Given the description of an element on the screen output the (x, y) to click on. 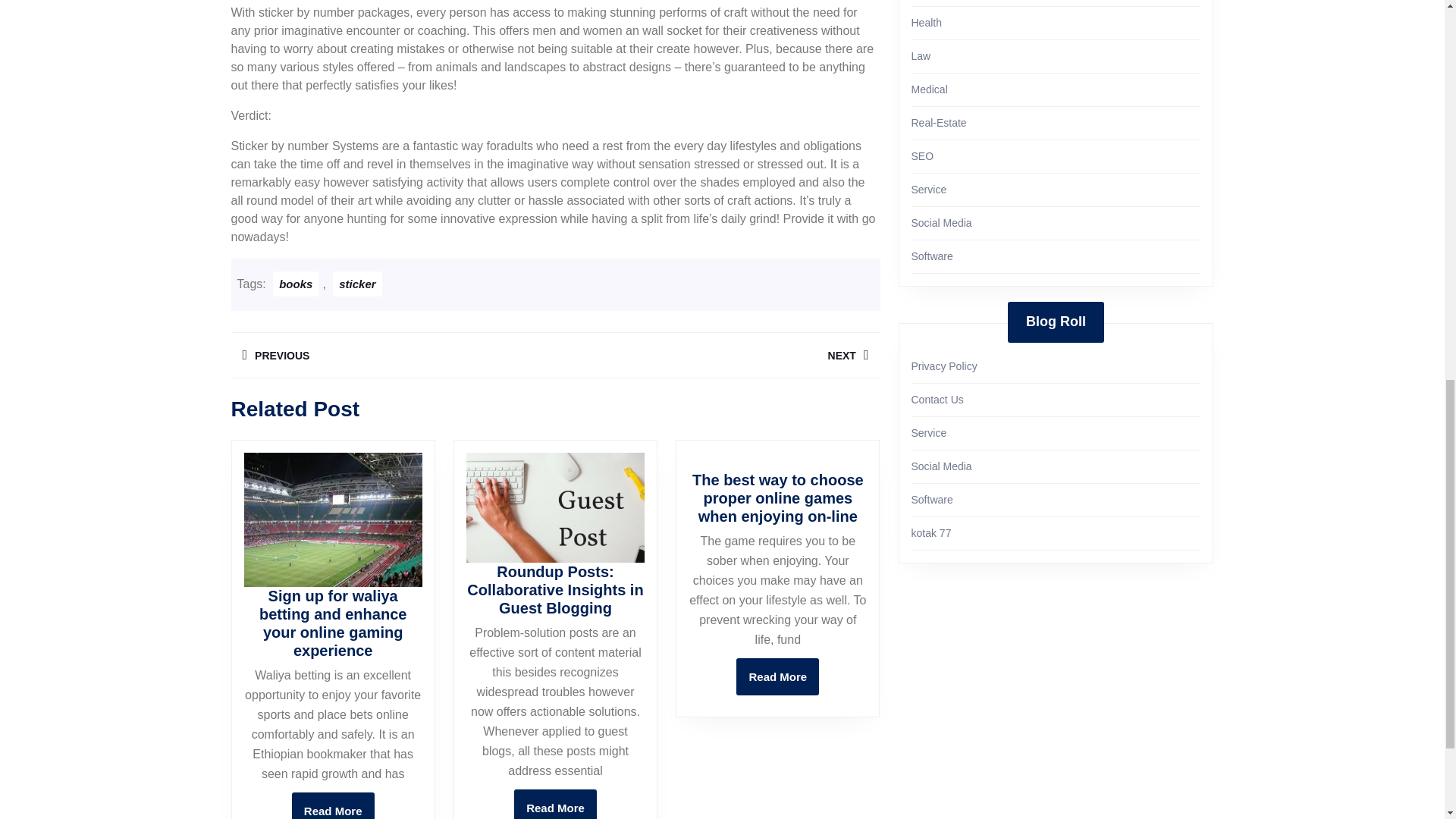
Law (777, 676)
sticker (716, 355)
Health (921, 55)
